Given the description of an element on the screen output the (x, y) to click on. 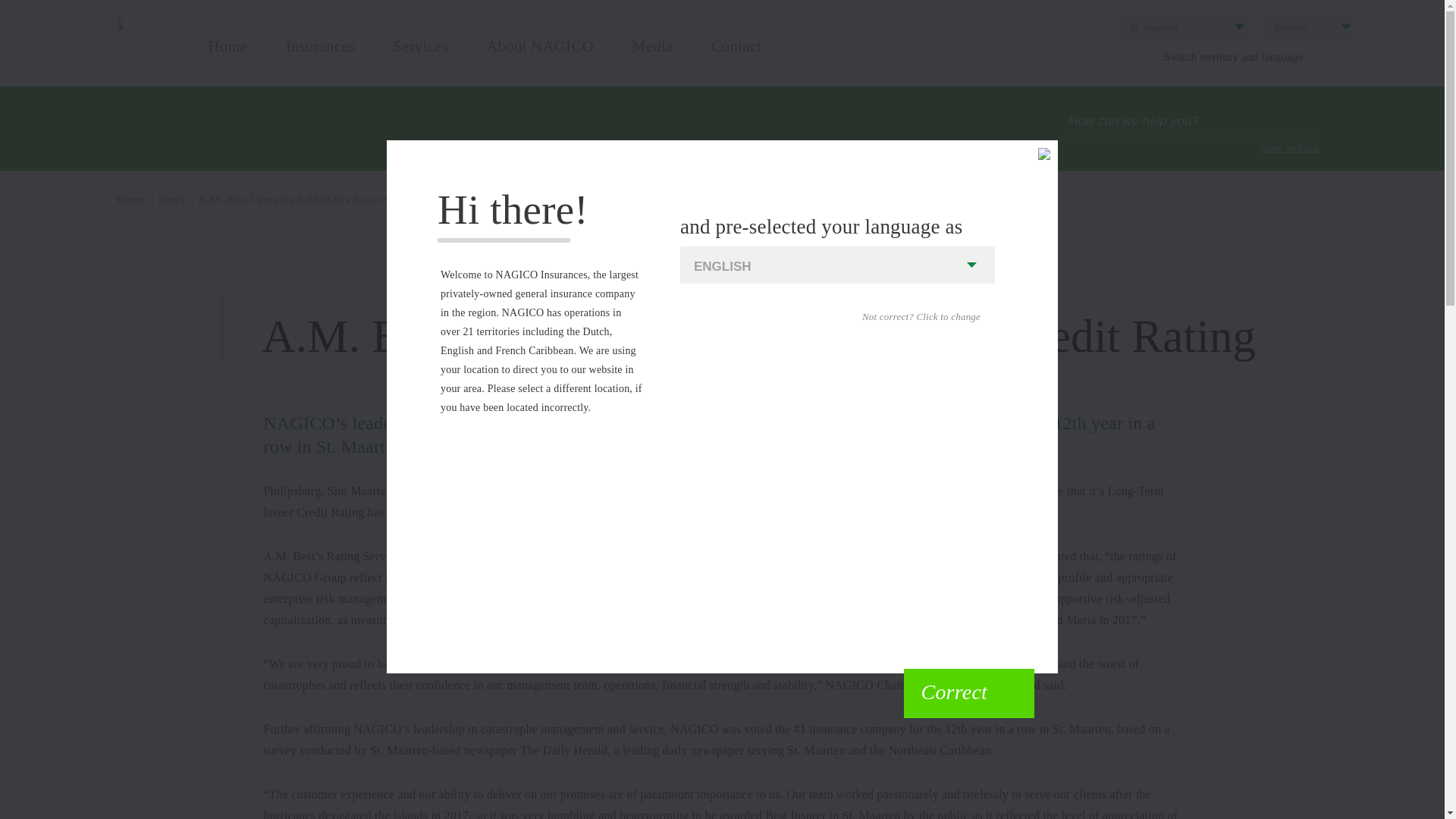
Services (420, 57)
Insurances (320, 57)
Home (227, 57)
Contact (736, 57)
About NAGICO (539, 57)
Media (652, 57)
